Given the description of an element on the screen output the (x, y) to click on. 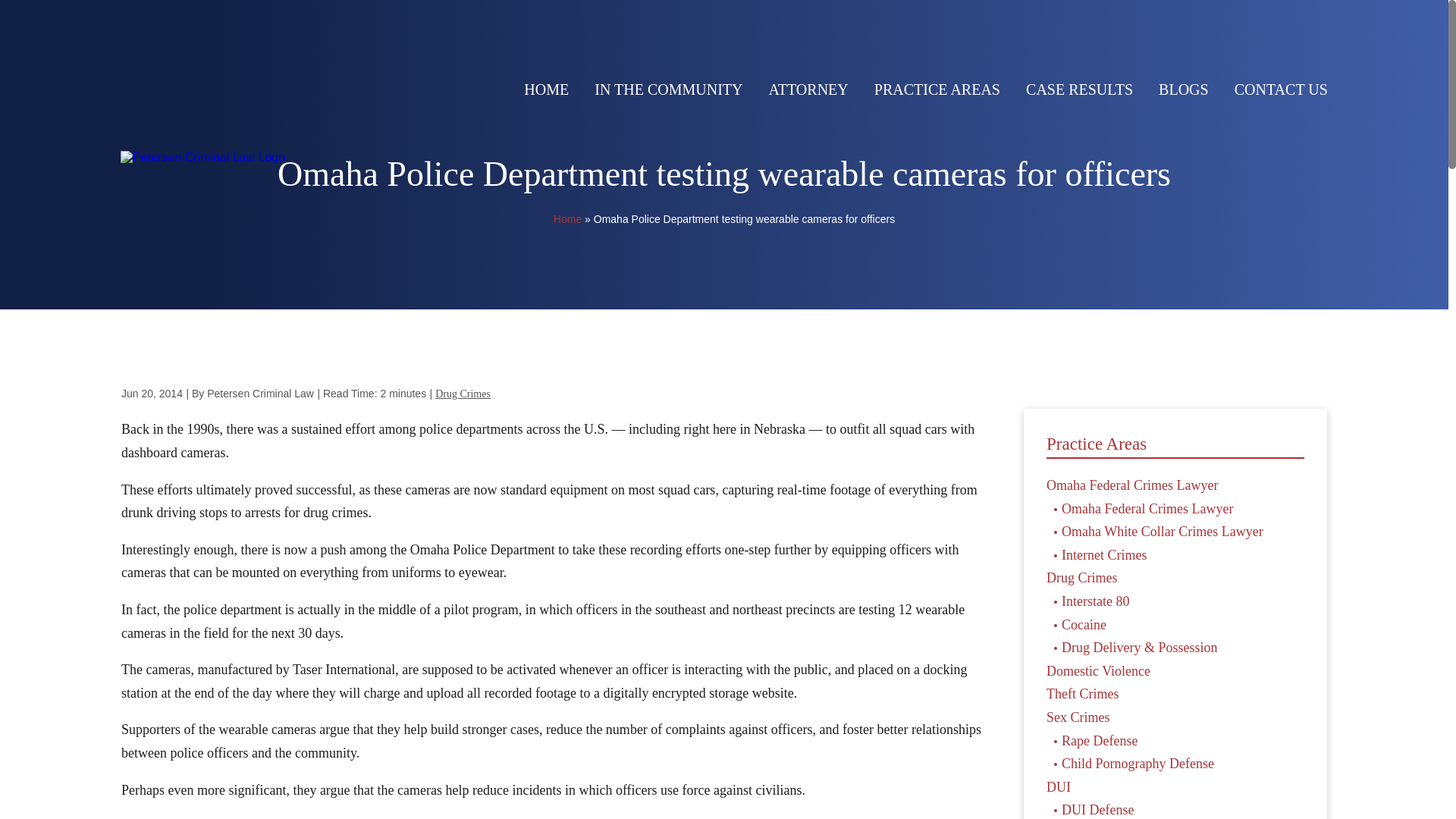
PRACTICE AREAS (937, 89)
CONTACT US (1280, 89)
ATTORNEY (808, 89)
Drug Crimes (462, 393)
IN THE COMMUNITY (668, 89)
CASE RESULTS (1079, 89)
HOME (546, 89)
BLOGS (1183, 89)
